Given the description of an element on the screen output the (x, y) to click on. 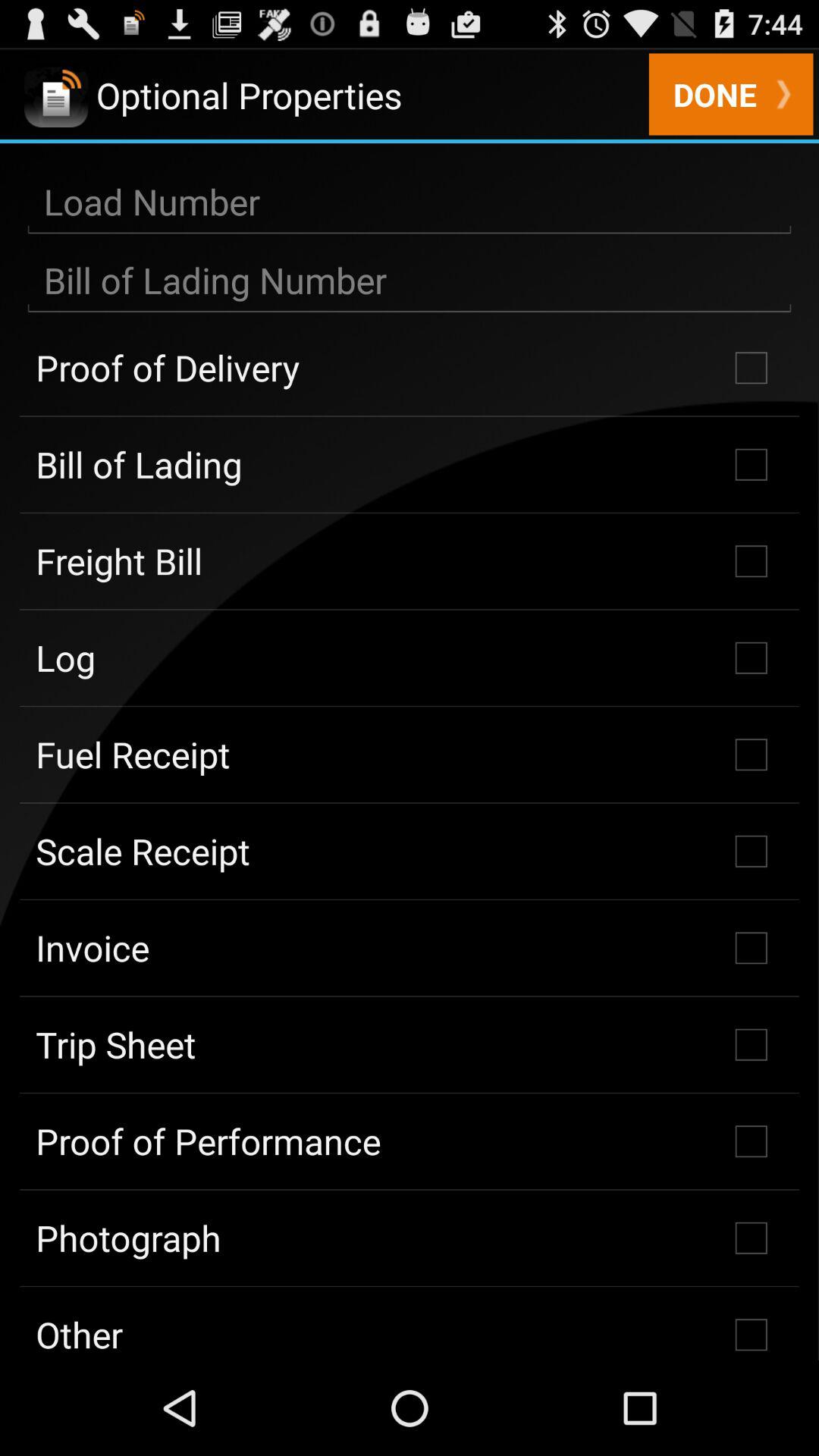
flip to freight bill checkbox (409, 561)
